Given the description of an element on the screen output the (x, y) to click on. 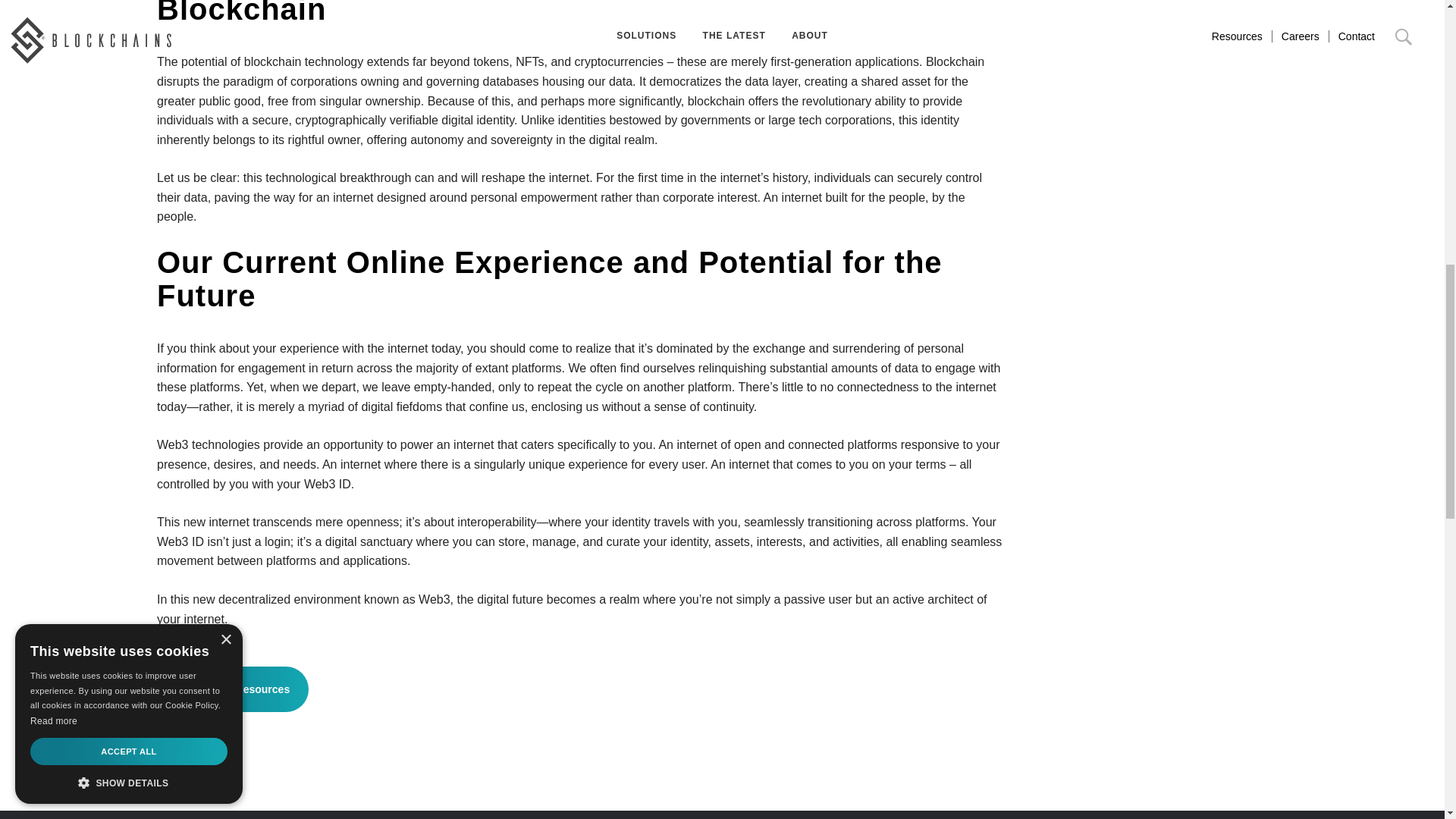
Back To All Resources (232, 688)
